Given the description of an element on the screen output the (x, y) to click on. 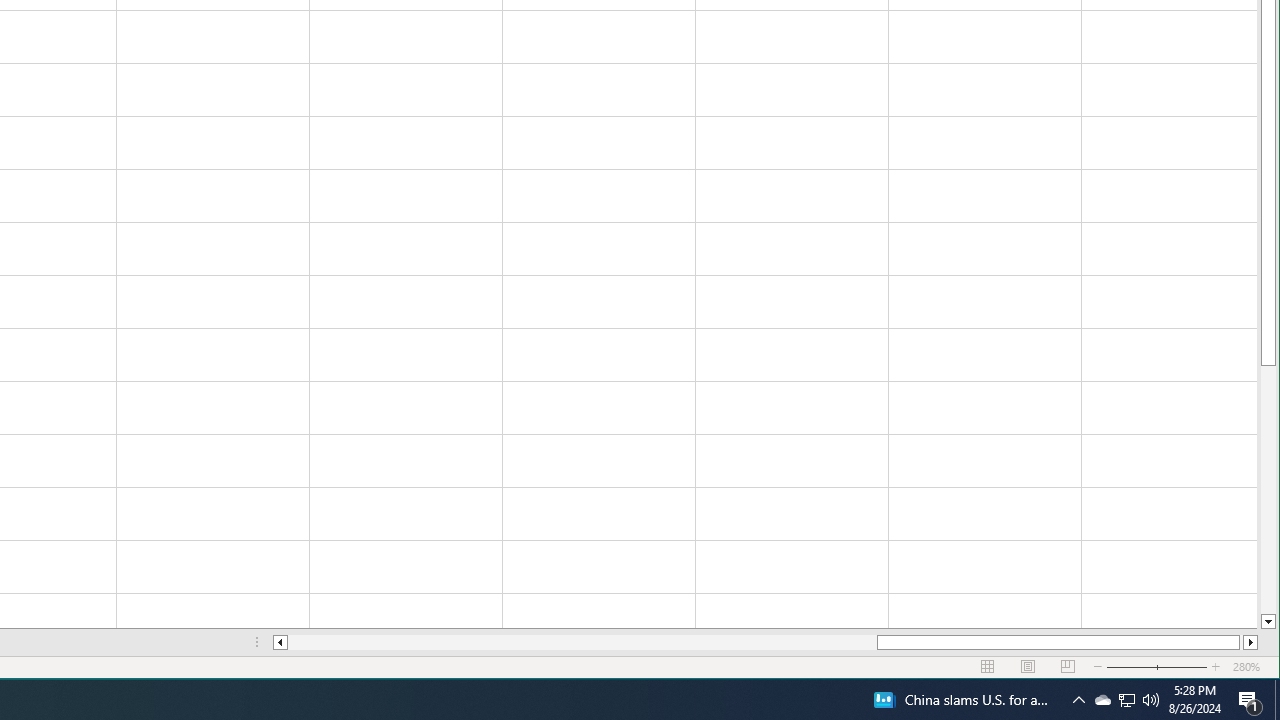
User Promoted Notification Area (1126, 699)
Column right (1126, 699)
Q2790: 100% (1250, 642)
Action Center, 1 new notification (1151, 699)
